Given the description of an element on the screen output the (x, y) to click on. 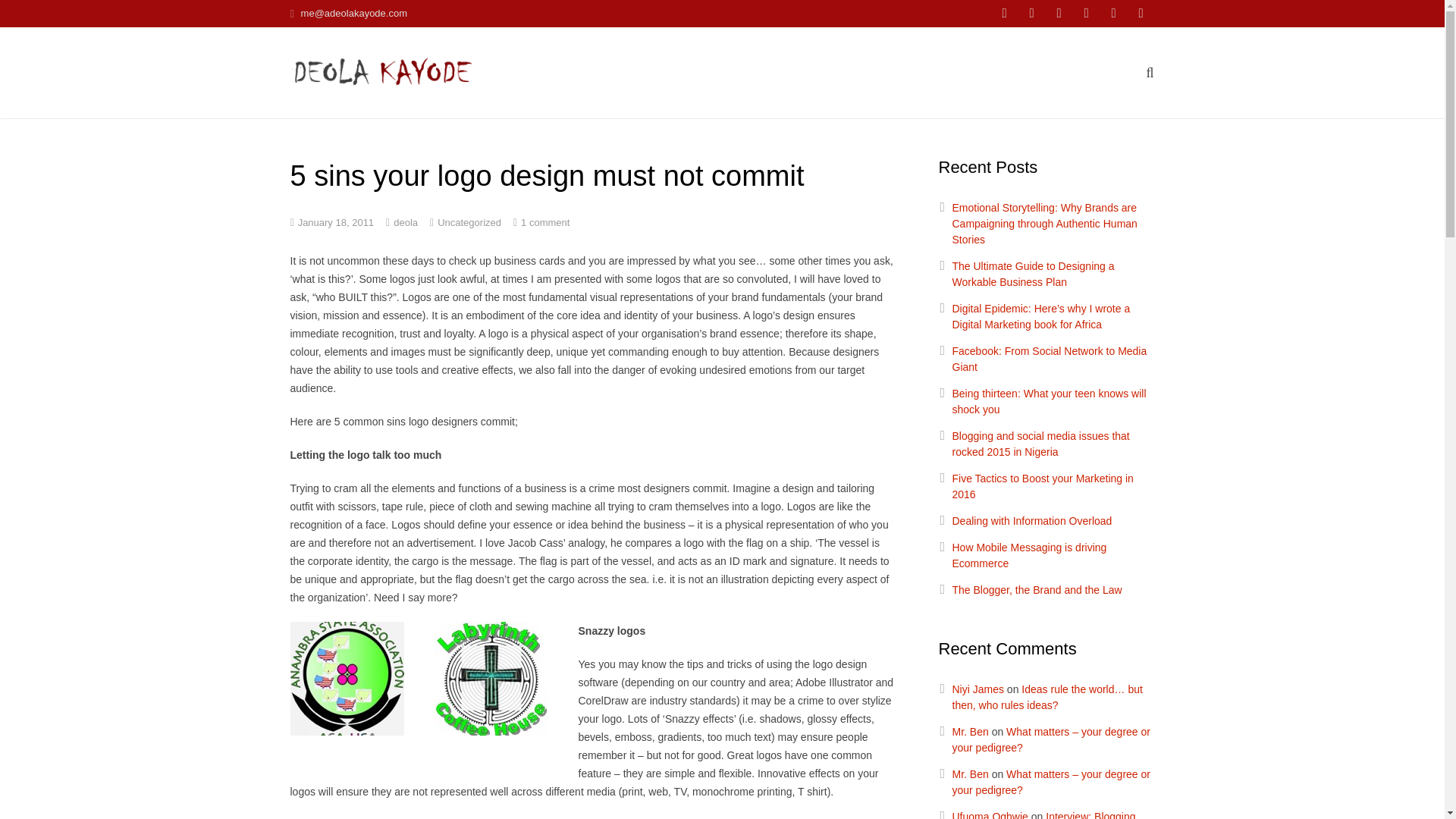
deola (405, 222)
image-237 (490, 678)
Uncategorized (469, 222)
1 comment (545, 222)
